Given the description of an element on the screen output the (x, y) to click on. 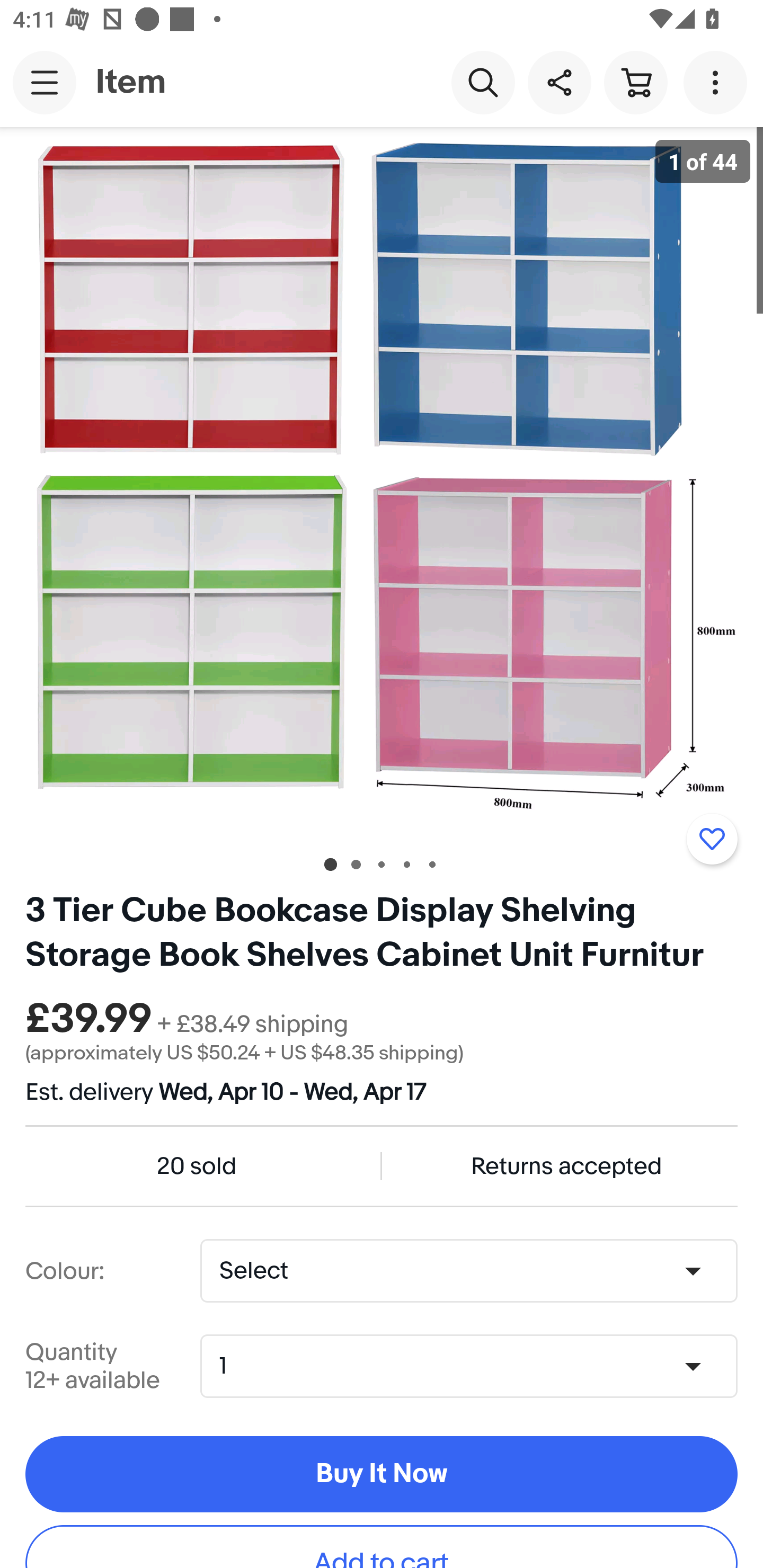
Main navigation, open (44, 82)
Search (482, 81)
Share this item (559, 81)
Cart button shopping cart (635, 81)
More options (718, 81)
Item image 1 of 44 (381, 482)
Add to watchlist (711, 838)
Colour:,No selection Select (468, 1270)
Quantity,1,12+ available 1 (474, 1365)
Buy It Now (381, 1474)
Add to cart (381, 1546)
